Given the description of an element on the screen output the (x, y) to click on. 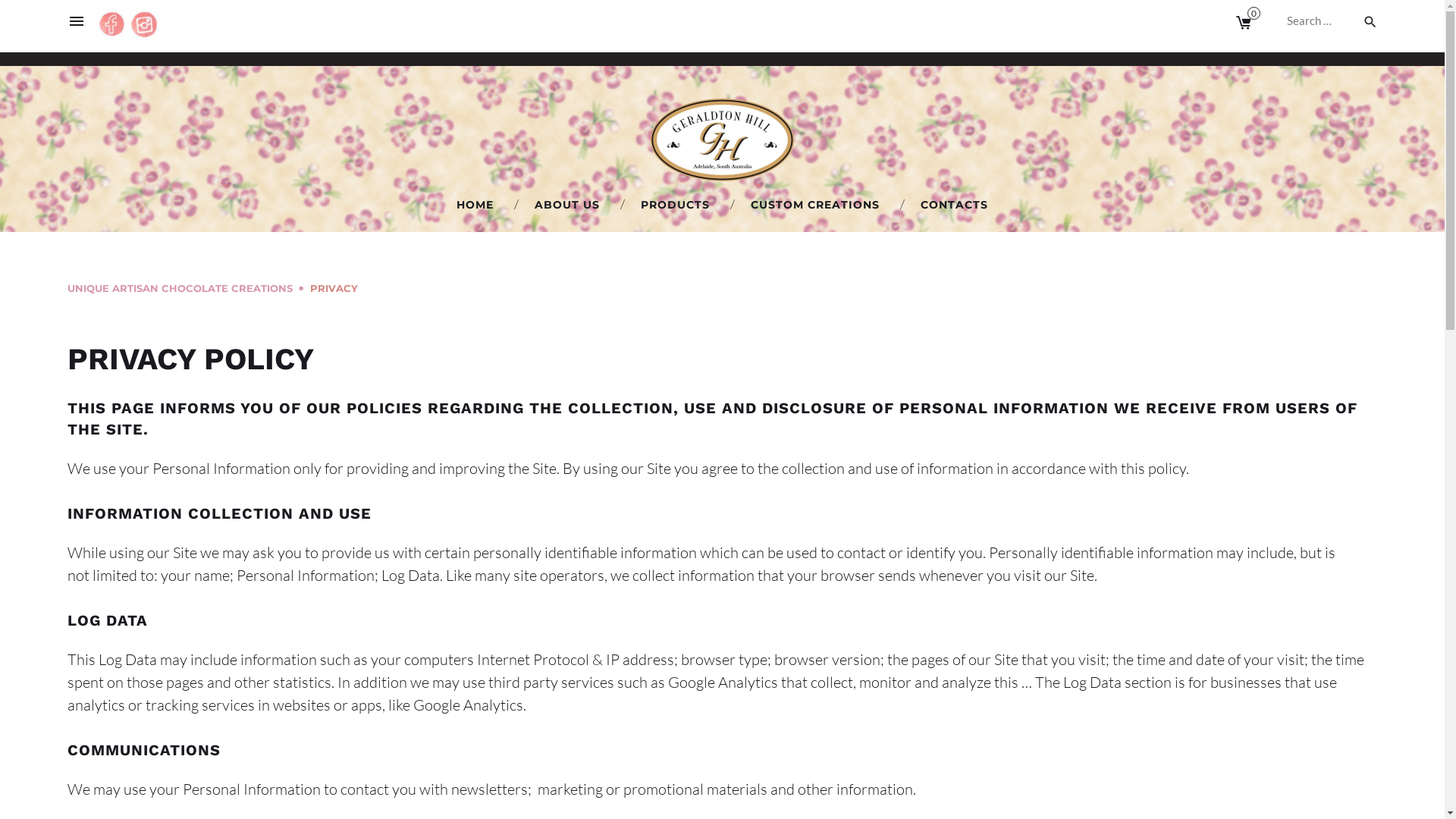
search Element type: text (1369, 21)
HOME Element type: text (474, 205)
UNIQUE ARTISAN CHOCOLATE CREATIONS Element type: text (178, 288)
CUSTOM CREATIONS Element type: text (814, 205)
PRODUCTS Element type: text (674, 205)
Instagram Element type: text (1363, 136)
ABOUT US Element type: text (566, 205)
Search for: Element type: hover (1320, 20)
